Given the description of an element on the screen output the (x, y) to click on. 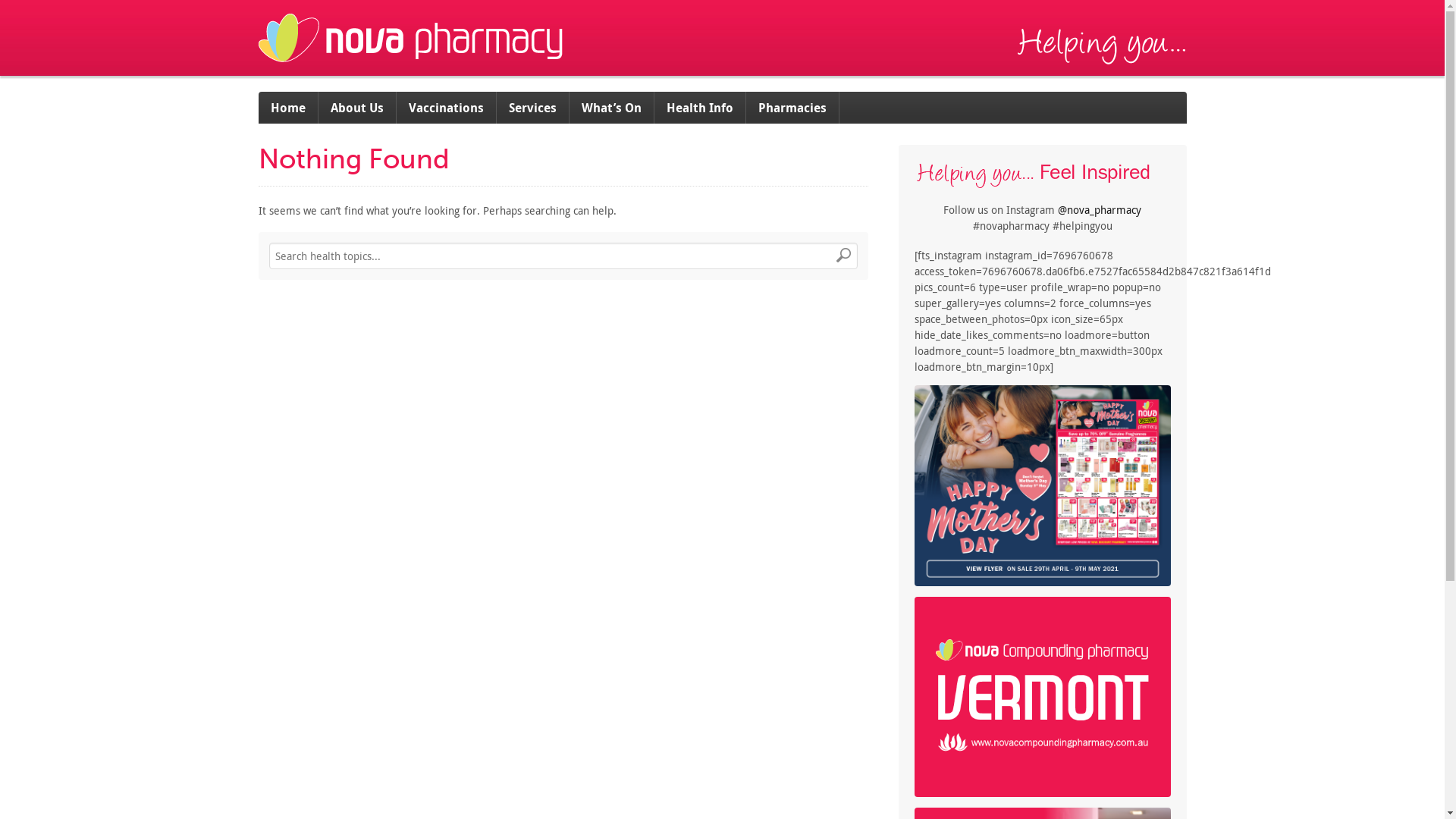
About Us Element type: text (357, 107)
Vaccinations Element type: text (445, 107)
Services Element type: text (531, 107)
@nova_pharmacy Element type: text (1099, 209)
Search Element type: text (843, 256)
Pharmacies Element type: text (792, 107)
Home Element type: text (287, 107)
Nova Pharmacy Element type: hover (411, 67)
Health Info Element type: text (699, 107)
